Given the description of an element on the screen output the (x, y) to click on. 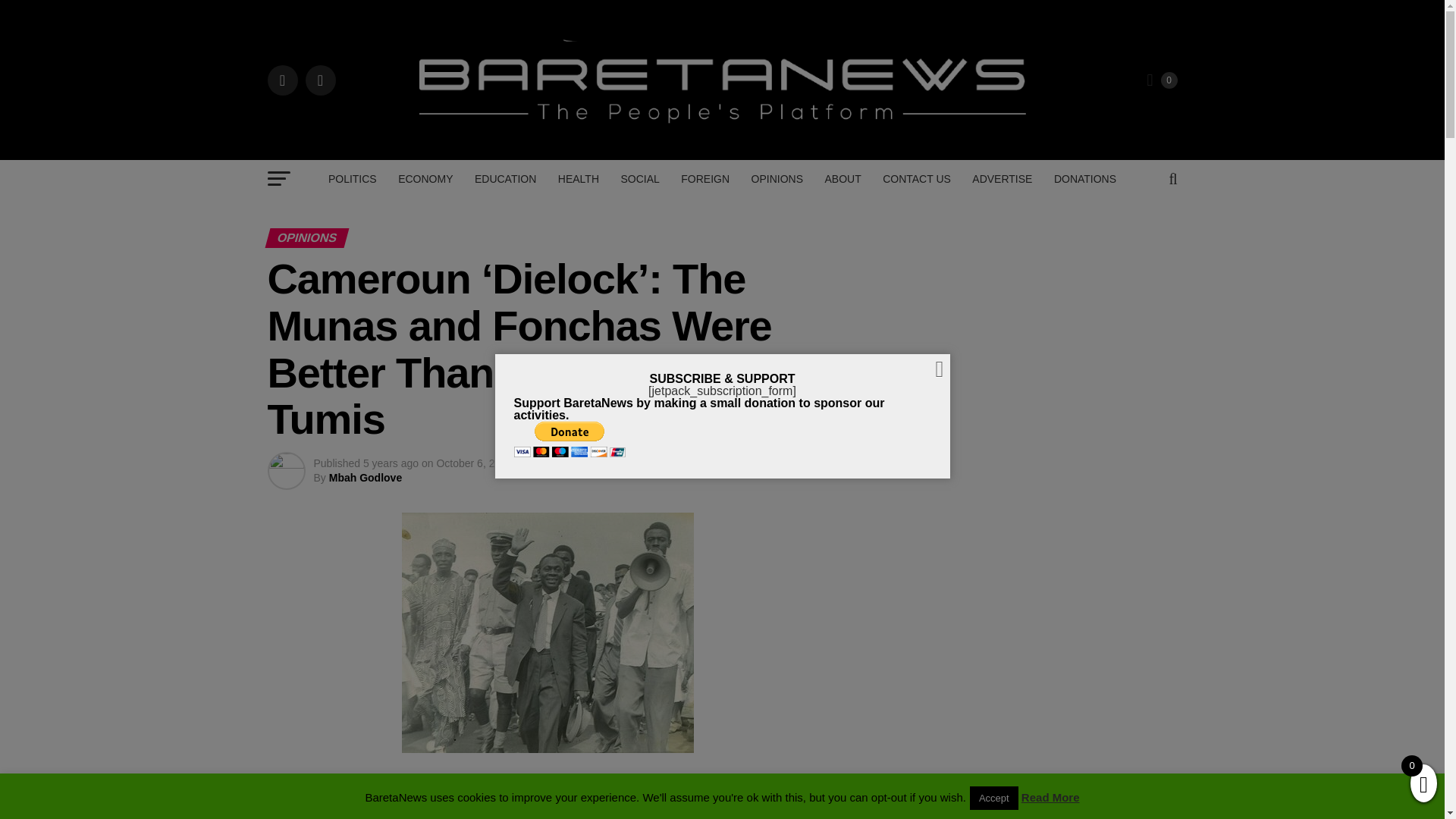
SOCIAL (639, 178)
OPINIONS (777, 178)
CONTACT US (916, 178)
FOREIGN (704, 178)
EDUCATION (504, 178)
DONATIONS (1085, 178)
POLITICS (351, 178)
ABOUT (842, 178)
Advertisement (721, 263)
ECONOMY (424, 178)
HEALTH (578, 178)
ADVERTISE (1001, 178)
Advertisement (721, 178)
